Given the description of an element on the screen output the (x, y) to click on. 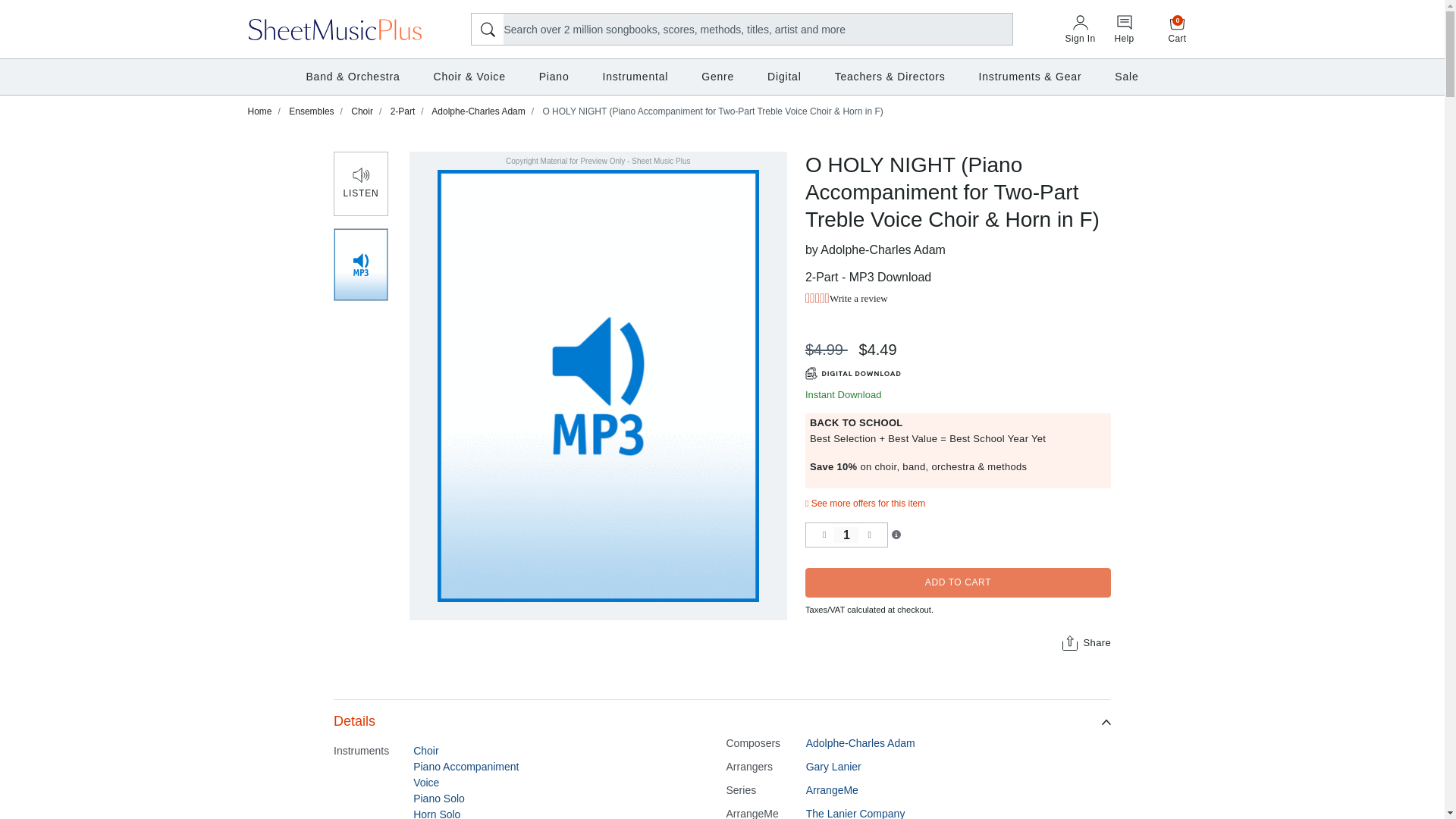
Sheet Music Plus Home (335, 28)
Help (1123, 29)
1 (846, 534)
Sign In (1080, 29)
Cart 0 Items (1177, 28)
